Given the description of an element on the screen output the (x, y) to click on. 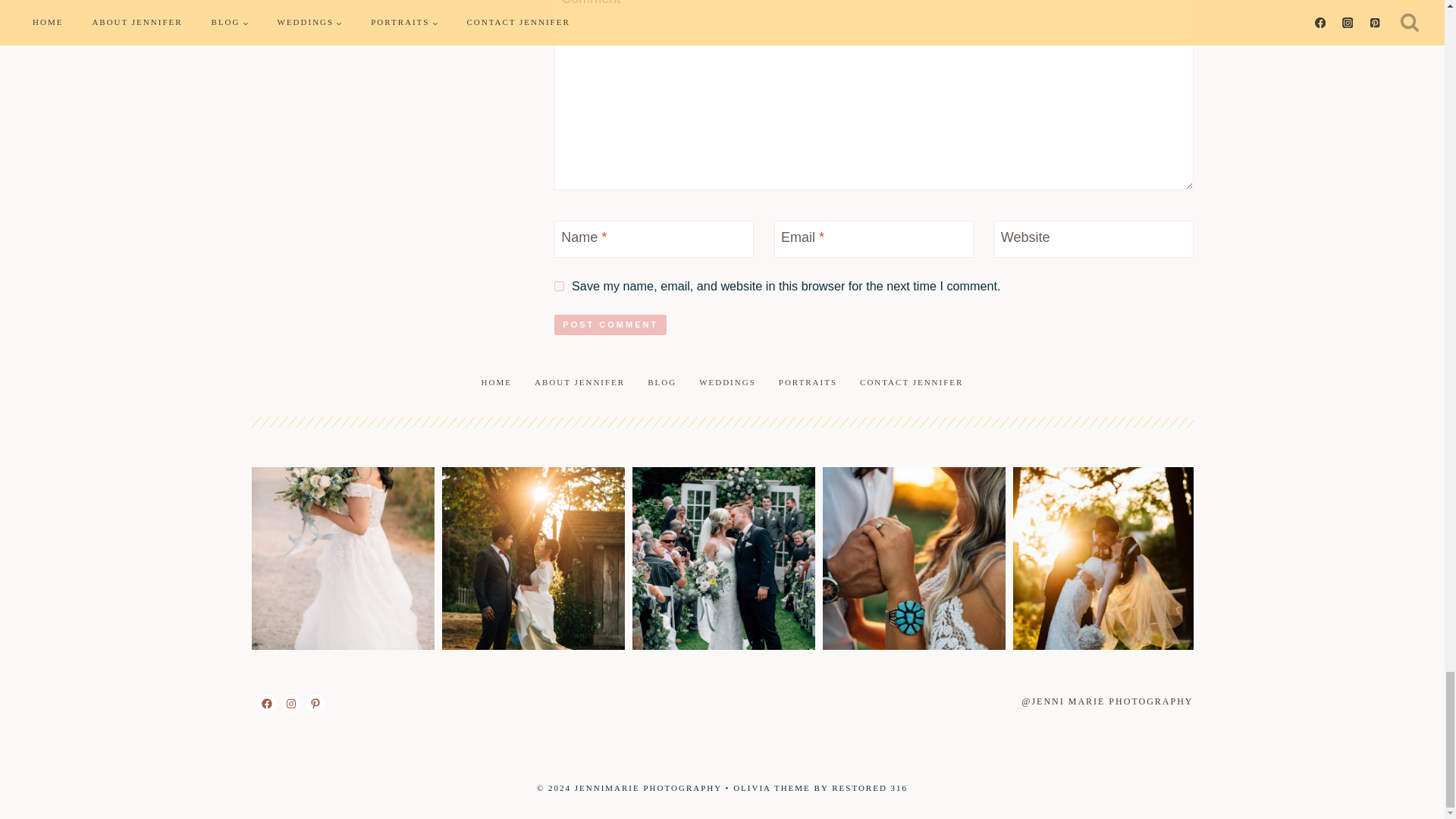
yes (559, 286)
Post Comment (610, 324)
